Given the description of an element on the screen output the (x, y) to click on. 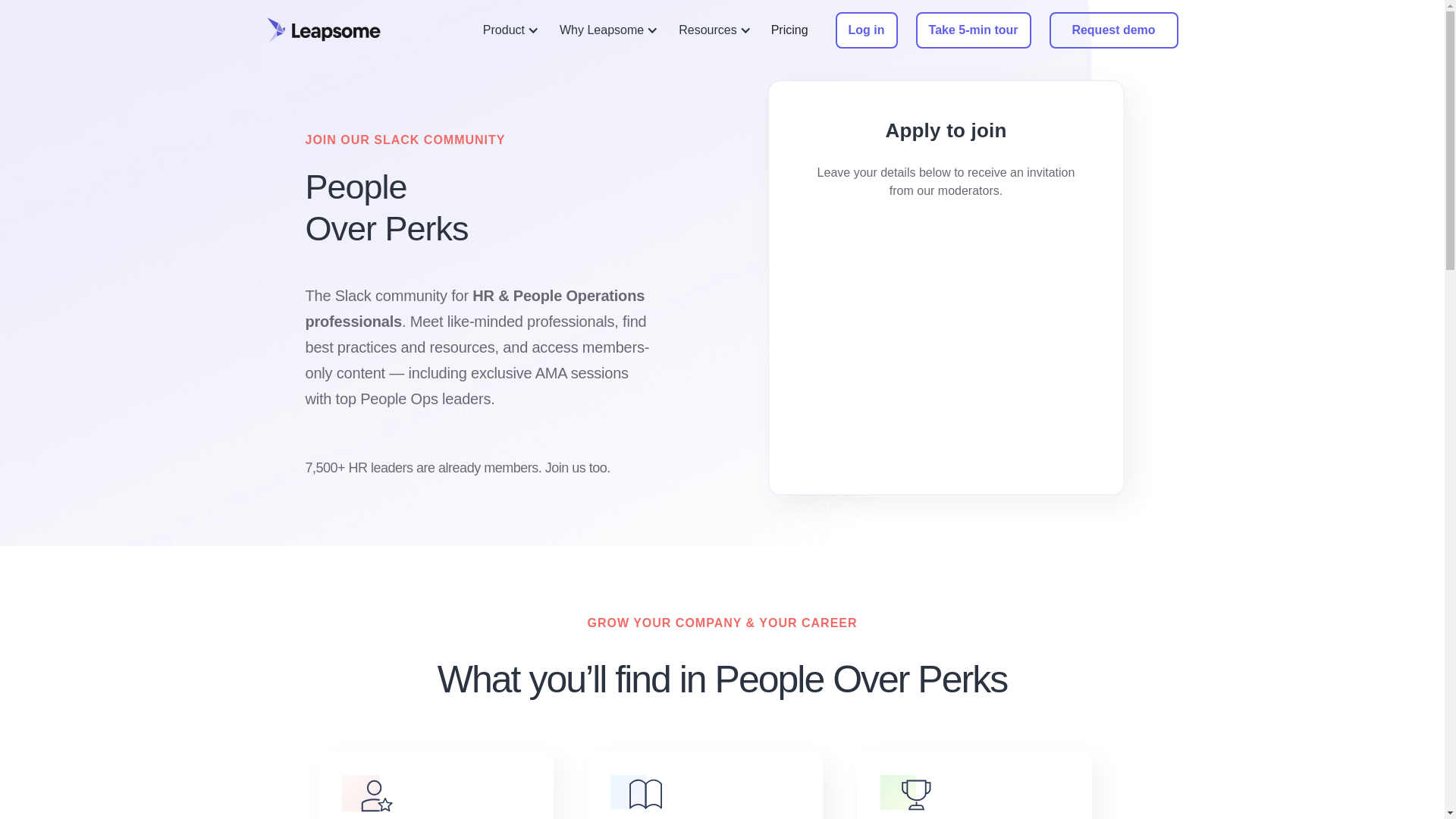
Request demo (1113, 30)
Take 5-min tour (972, 30)
Form 0 (946, 335)
Pricing (789, 30)
Log in (866, 30)
